Given the description of an element on the screen output the (x, y) to click on. 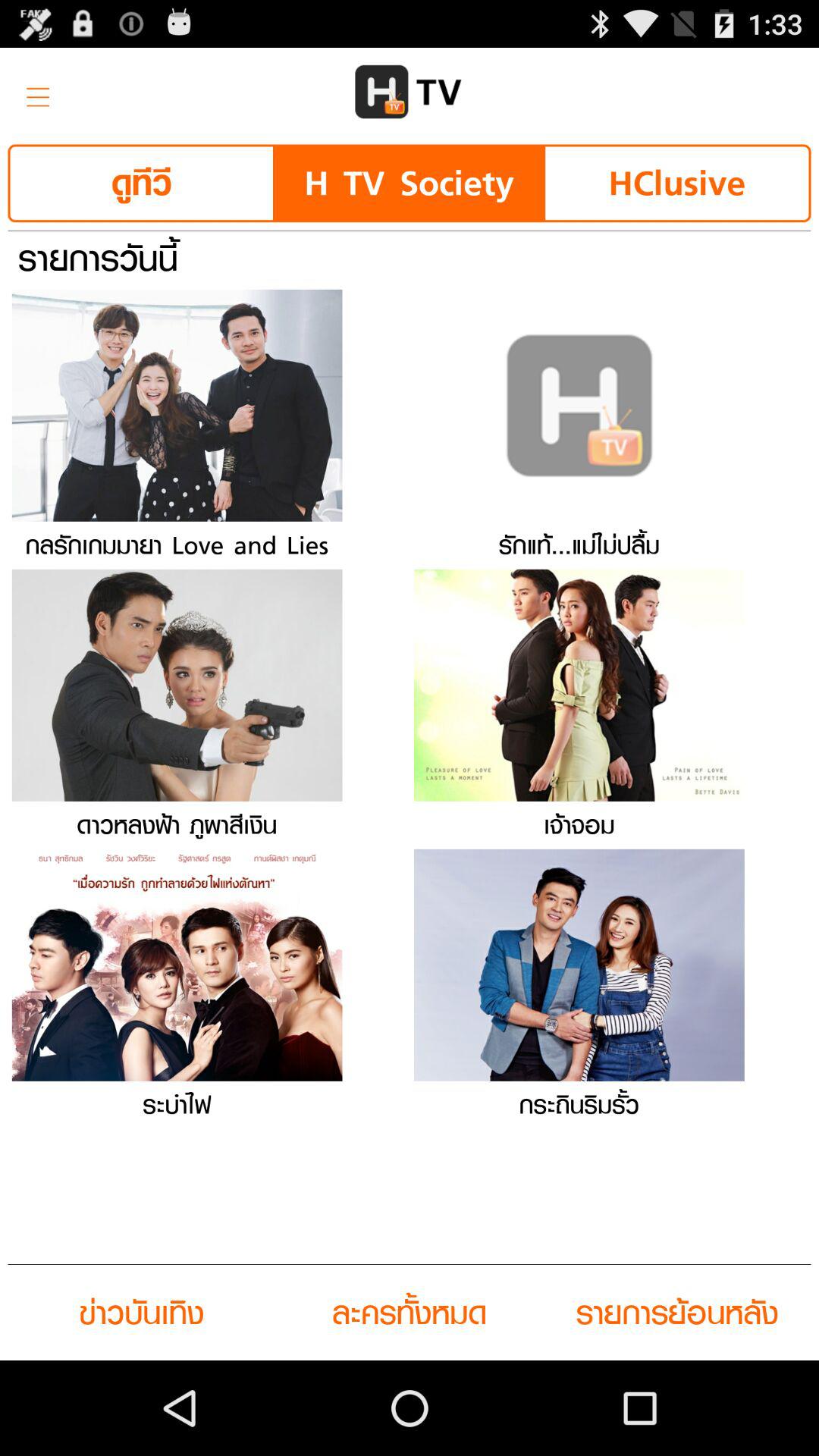
open the button to the left of hclusive icon (409, 183)
